Given the description of an element on the screen output the (x, y) to click on. 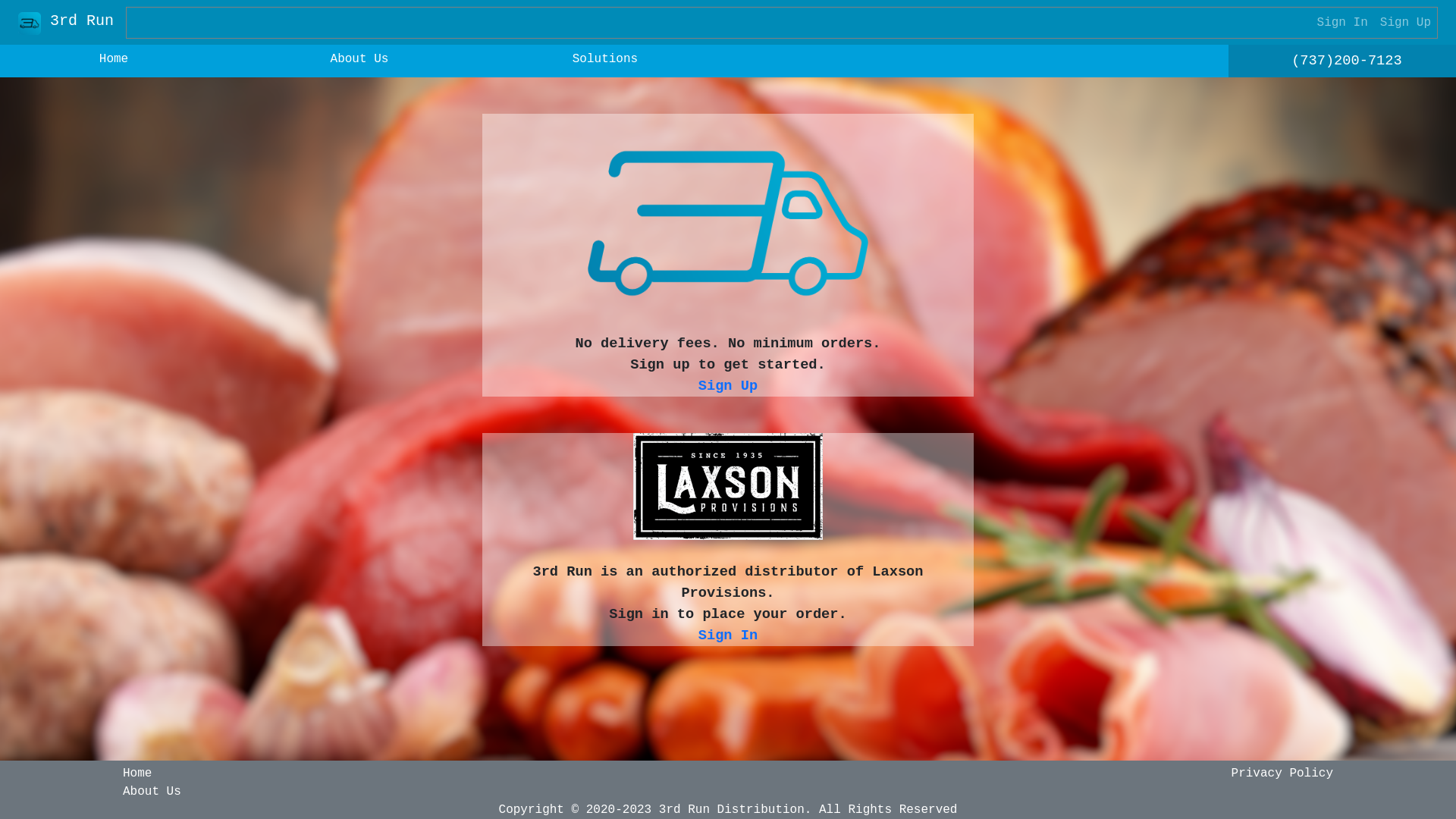
About Us Element type: text (151, 791)
Sign In Element type: text (727, 635)
Home Element type: text (113, 58)
Sign Up Element type: text (1405, 22)
Sign In Element type: text (1342, 22)
About Us Element type: text (359, 58)
Privacy Policy Element type: text (1282, 773)
Solutions Element type: text (604, 58)
Sign Up Element type: text (727, 385)
Home Element type: text (136, 773)
3rd Run Element type: text (65, 22)
